Given the description of an element on the screen output the (x, y) to click on. 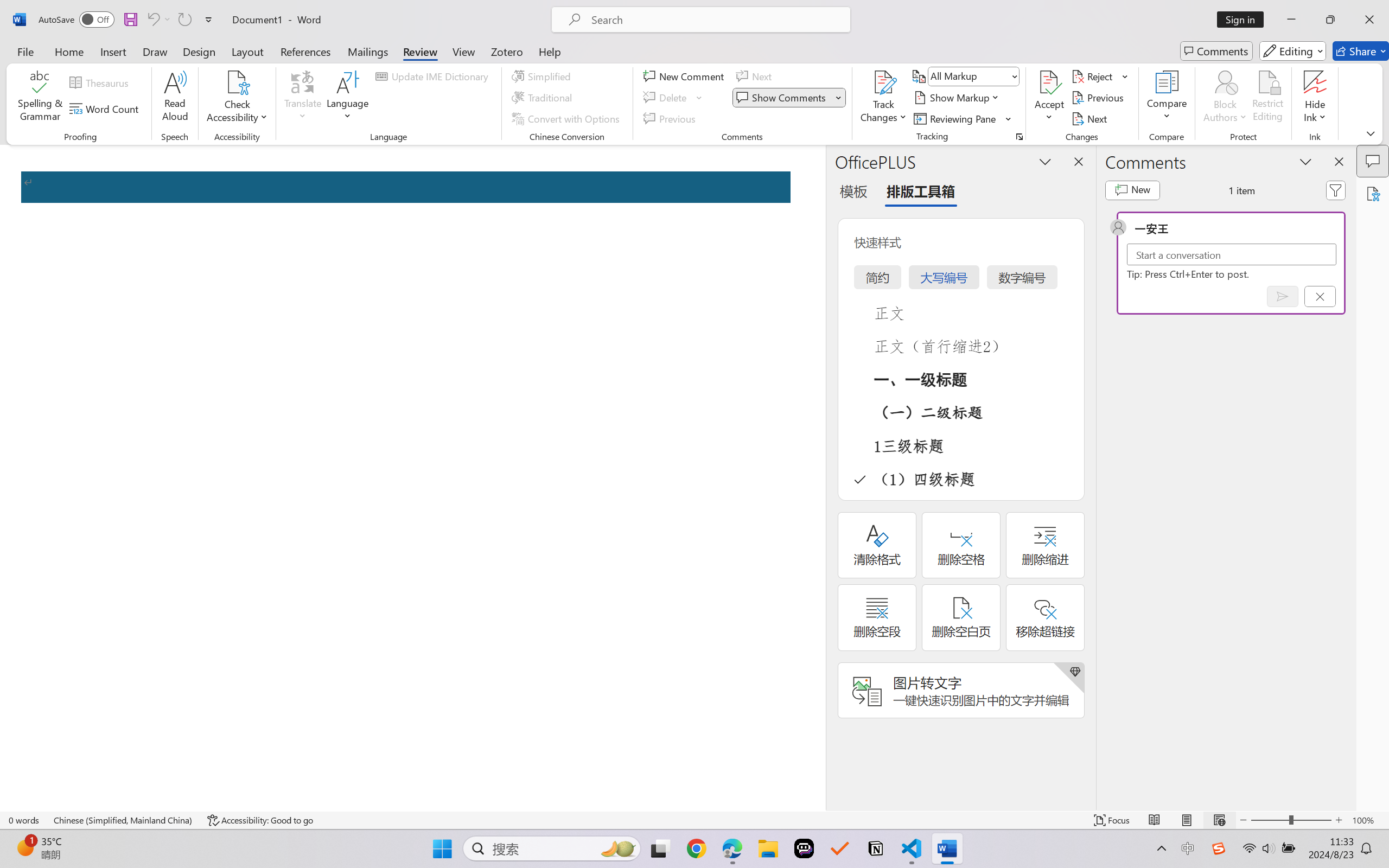
Spelling & Grammar (39, 97)
Change Tracking Options... (1019, 136)
Delete (666, 97)
Display for Review (973, 75)
